Given the description of an element on the screen output the (x, y) to click on. 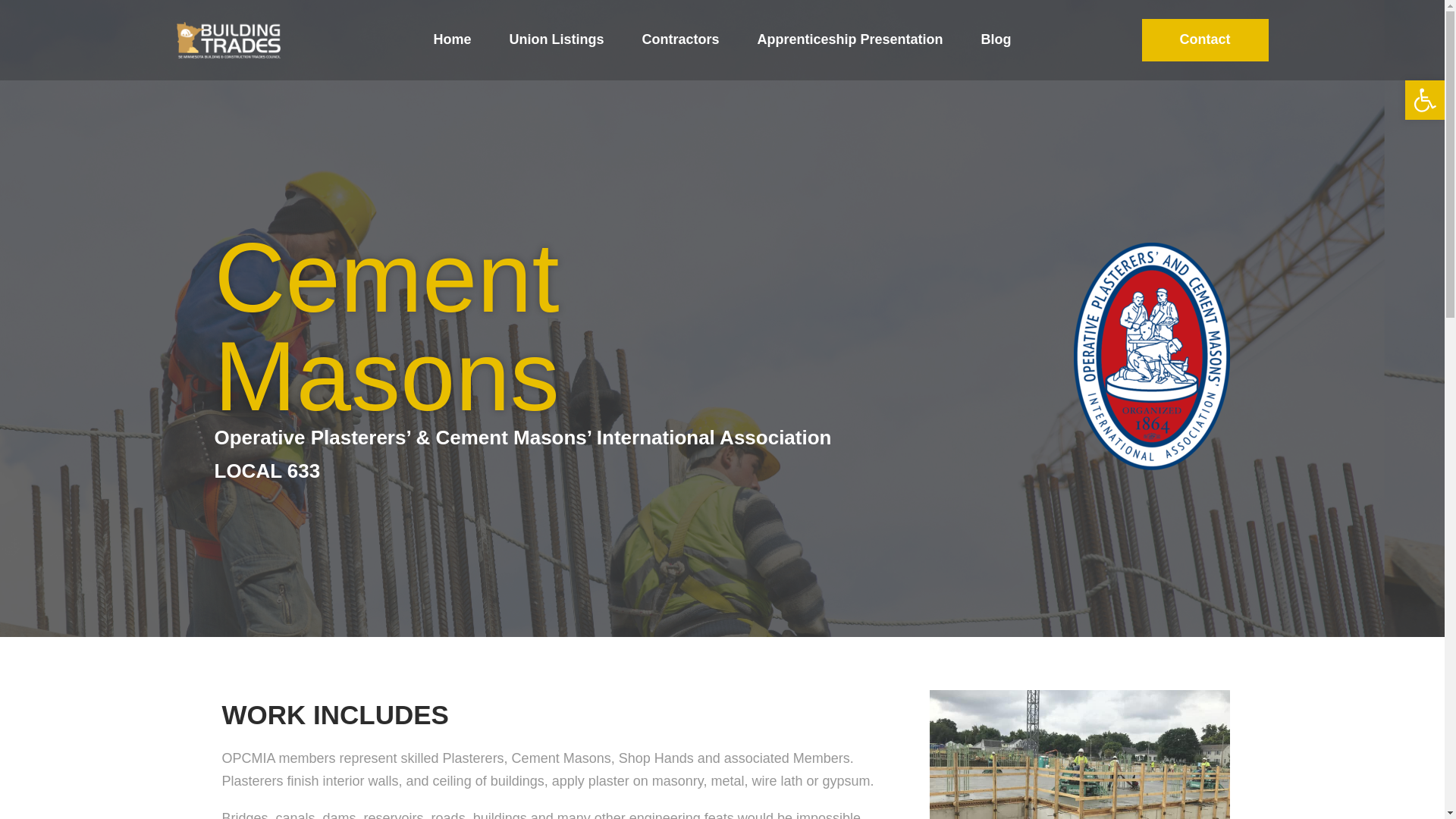
Contact (1204, 39)
Accessibility Tools (1424, 99)
Union Listings (556, 40)
Skip to content (15, 7)
Contractors (680, 40)
Home (451, 40)
Apprenticeship Presentation (849, 40)
